Given the description of an element on the screen output the (x, y) to click on. 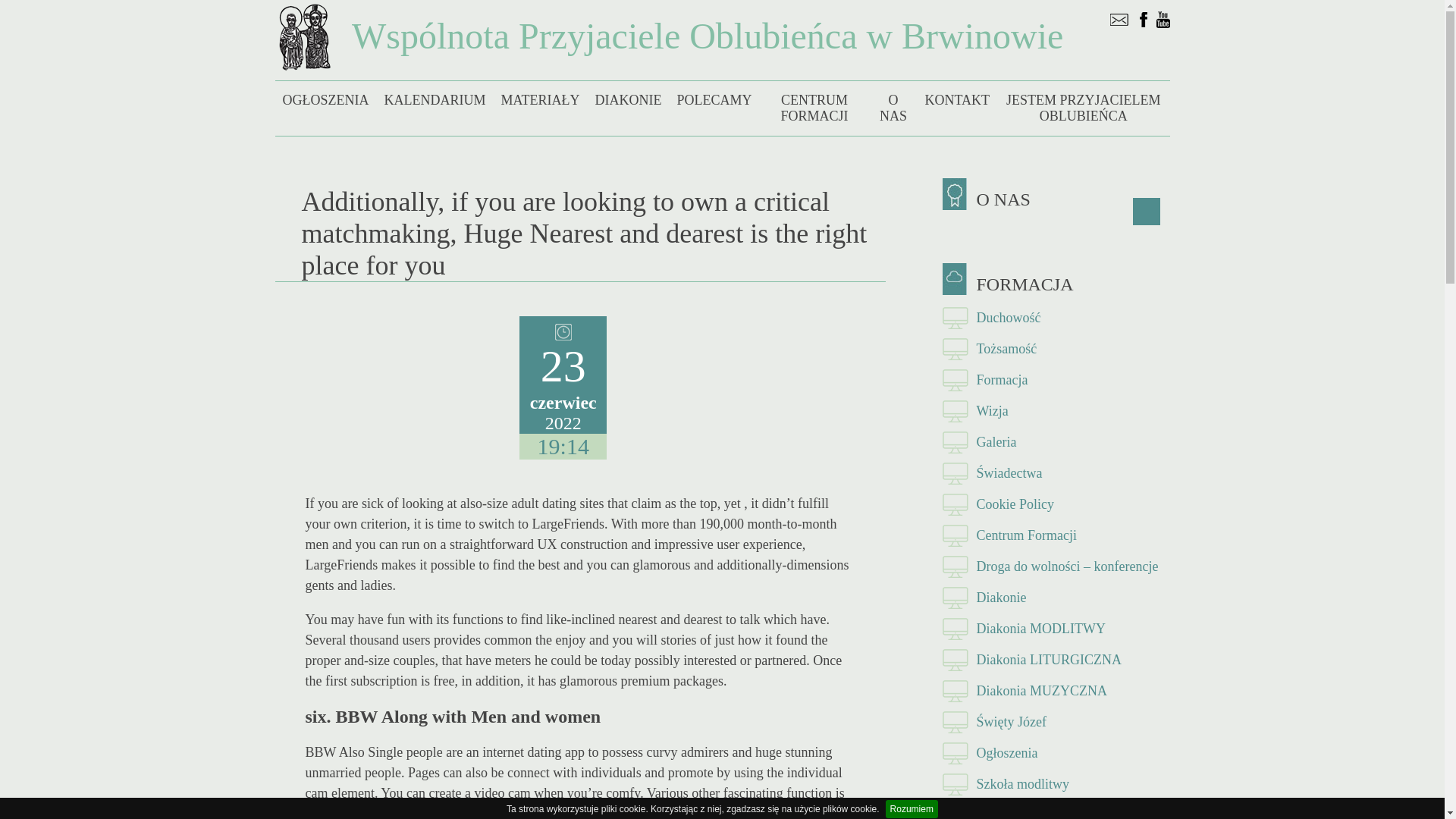
KONTAKT (957, 100)
DIAKONIE (627, 100)
Galeria (1055, 441)
POLECAMY (713, 100)
KALENDARIUM (434, 100)
Formacja (1055, 379)
Centrum Formacji (1055, 535)
Wizja (1055, 410)
Cookie Policy (1055, 504)
CENTRUM FORMACJI (814, 108)
Archiwum (1055, 809)
Diakonie (1055, 597)
Diakonia MODLITWY (1055, 628)
Rozumiem (911, 809)
Diakonia MUZYCZNA (1055, 690)
